Given the description of an element on the screen output the (x, y) to click on. 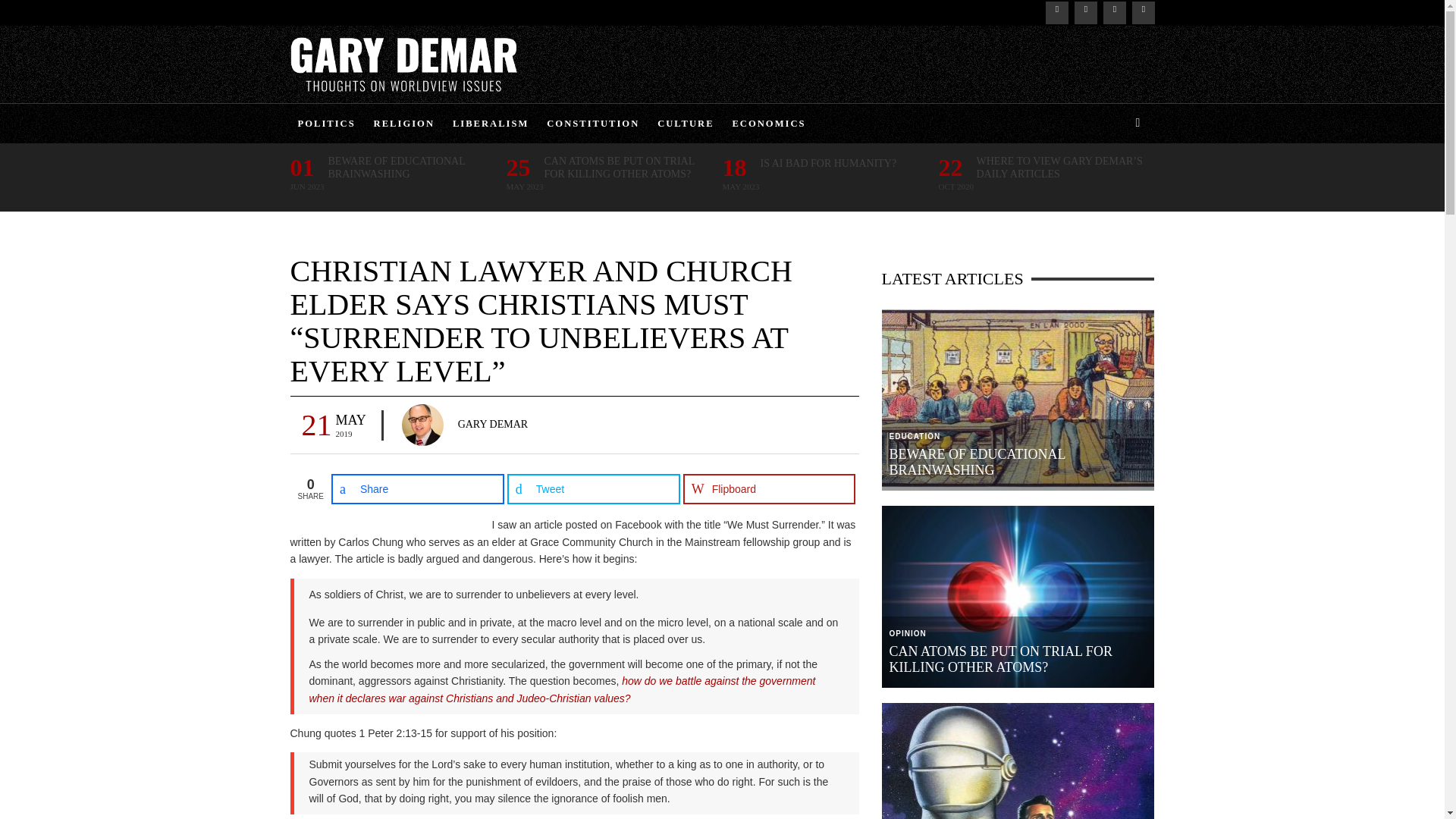
LIBERALISM (490, 123)
POLITICS (325, 123)
HOME (306, 8)
Share on Flipboard (769, 489)
IS AI BAD FOR HUMANITY? (828, 163)
PRIVACY POLICY (370, 8)
OPINION (312, 240)
Tweet (592, 489)
CONTACT (447, 8)
Share (417, 489)
